Given the description of an element on the screen output the (x, y) to click on. 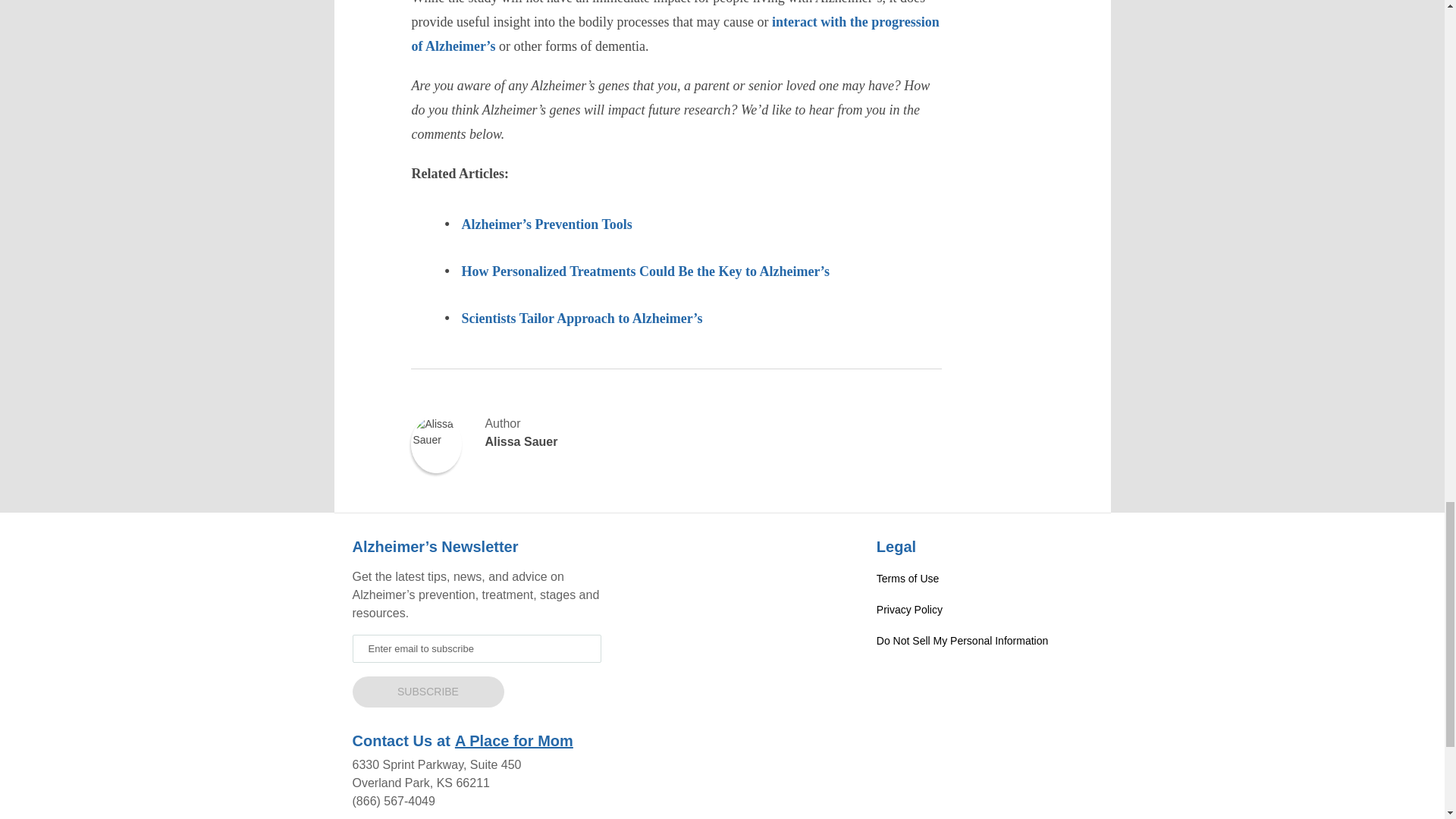
A Place for Mom (513, 740)
Privacy Policy (984, 609)
Do Not Sell My Personal Information (984, 641)
SUBSCRIBE (427, 691)
Terms of Use (984, 578)
